Given the description of an element on the screen output the (x, y) to click on. 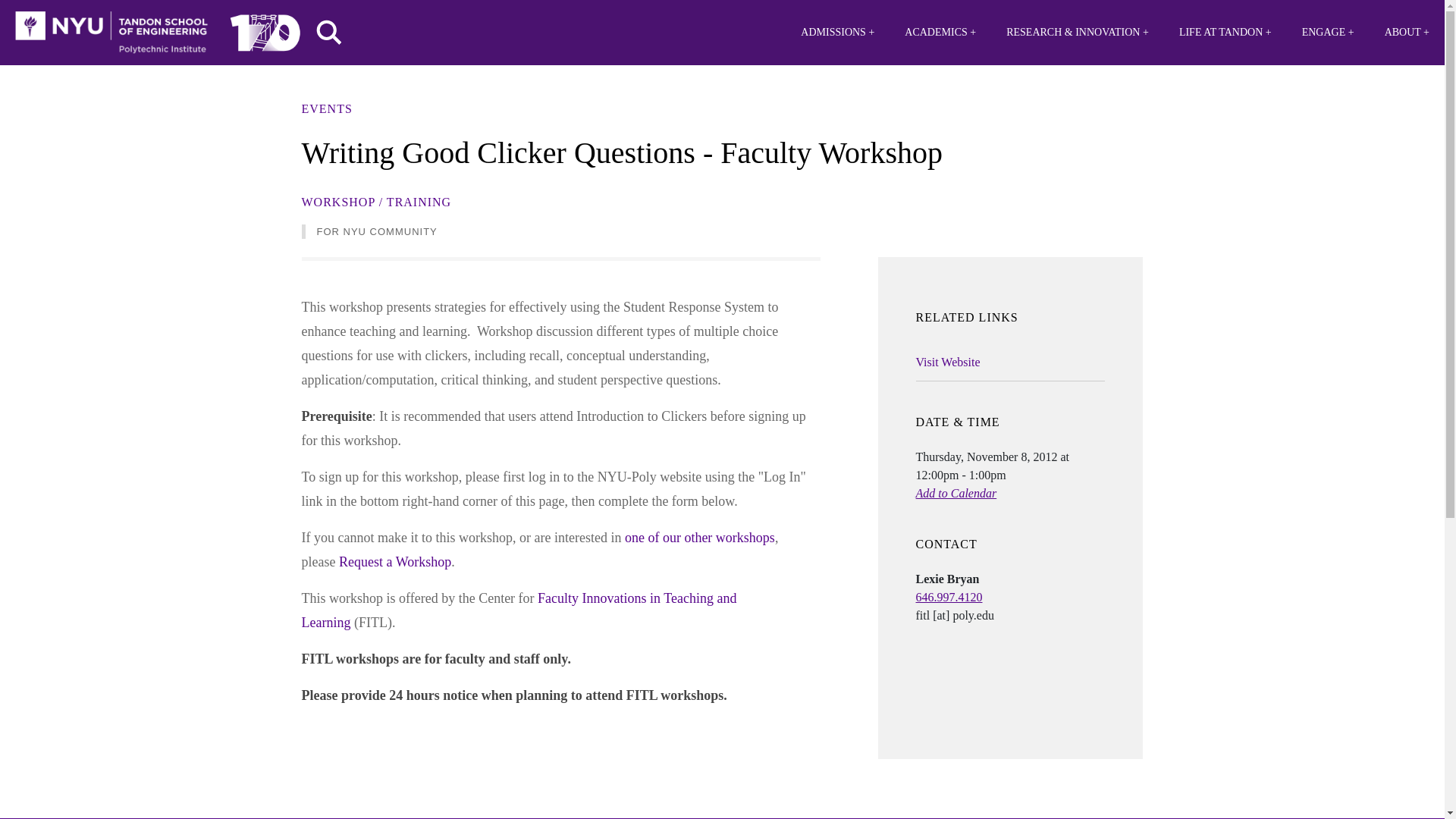
NYU Tandon Logo (111, 32)
NYU Tandon School of Engineering - Polytechnic Institute (111, 32)
NYU Tandon Anniversary (264, 29)
